Given the description of an element on the screen output the (x, y) to click on. 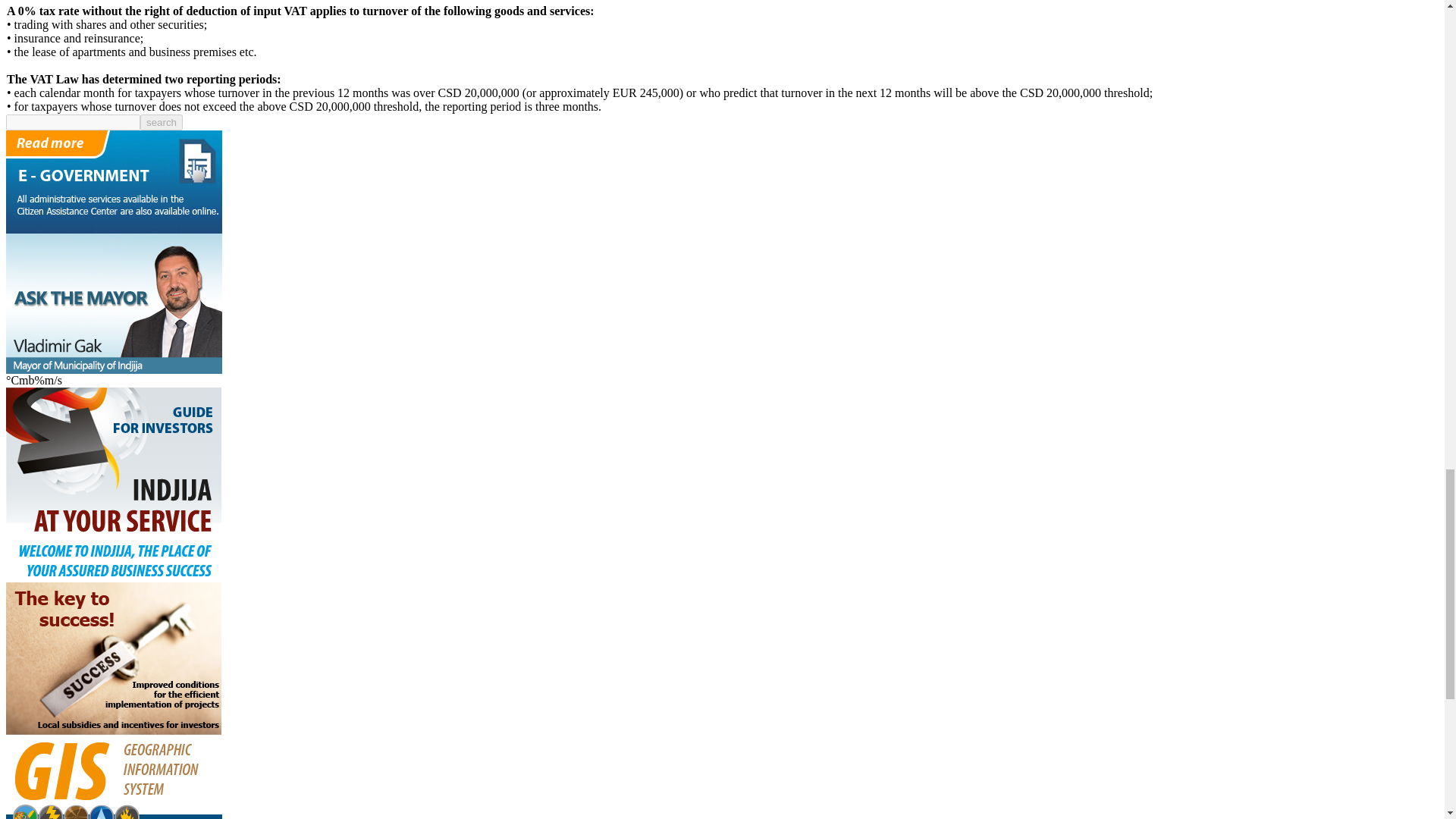
search (161, 122)
